Given the description of an element on the screen output the (x, y) to click on. 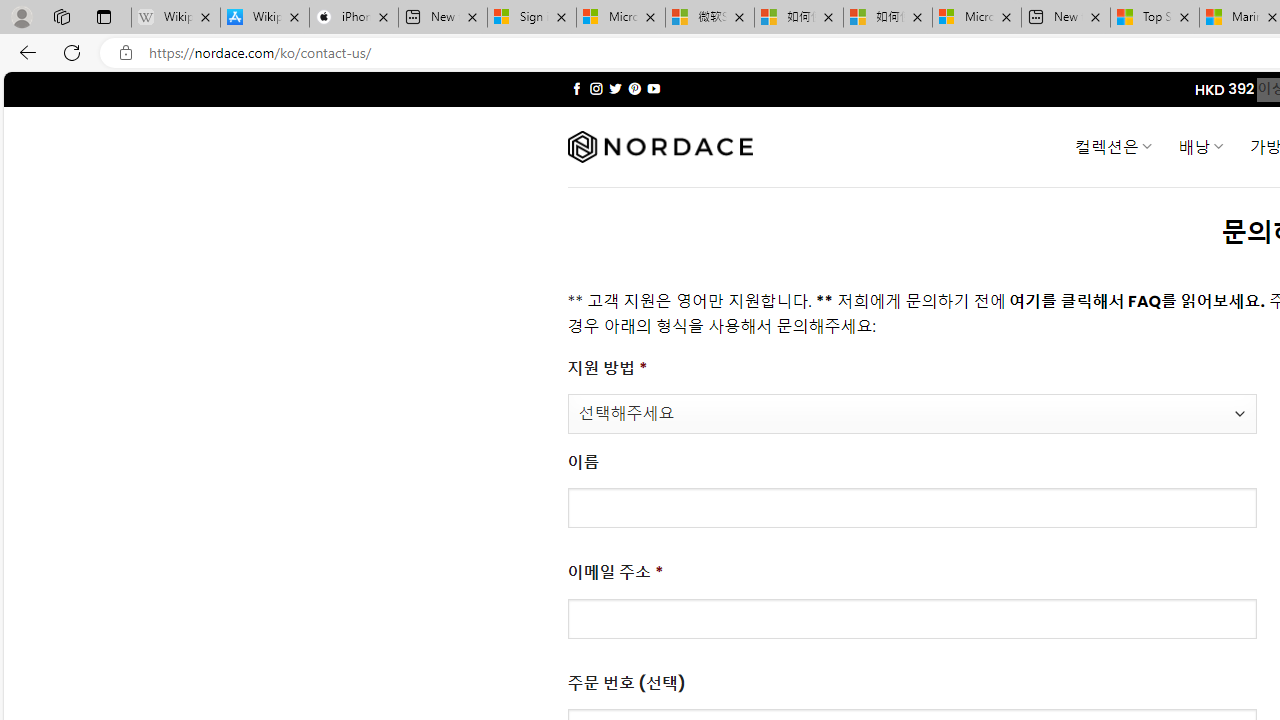
Follow on YouTube (653, 88)
